Given the description of an element on the screen output the (x, y) to click on. 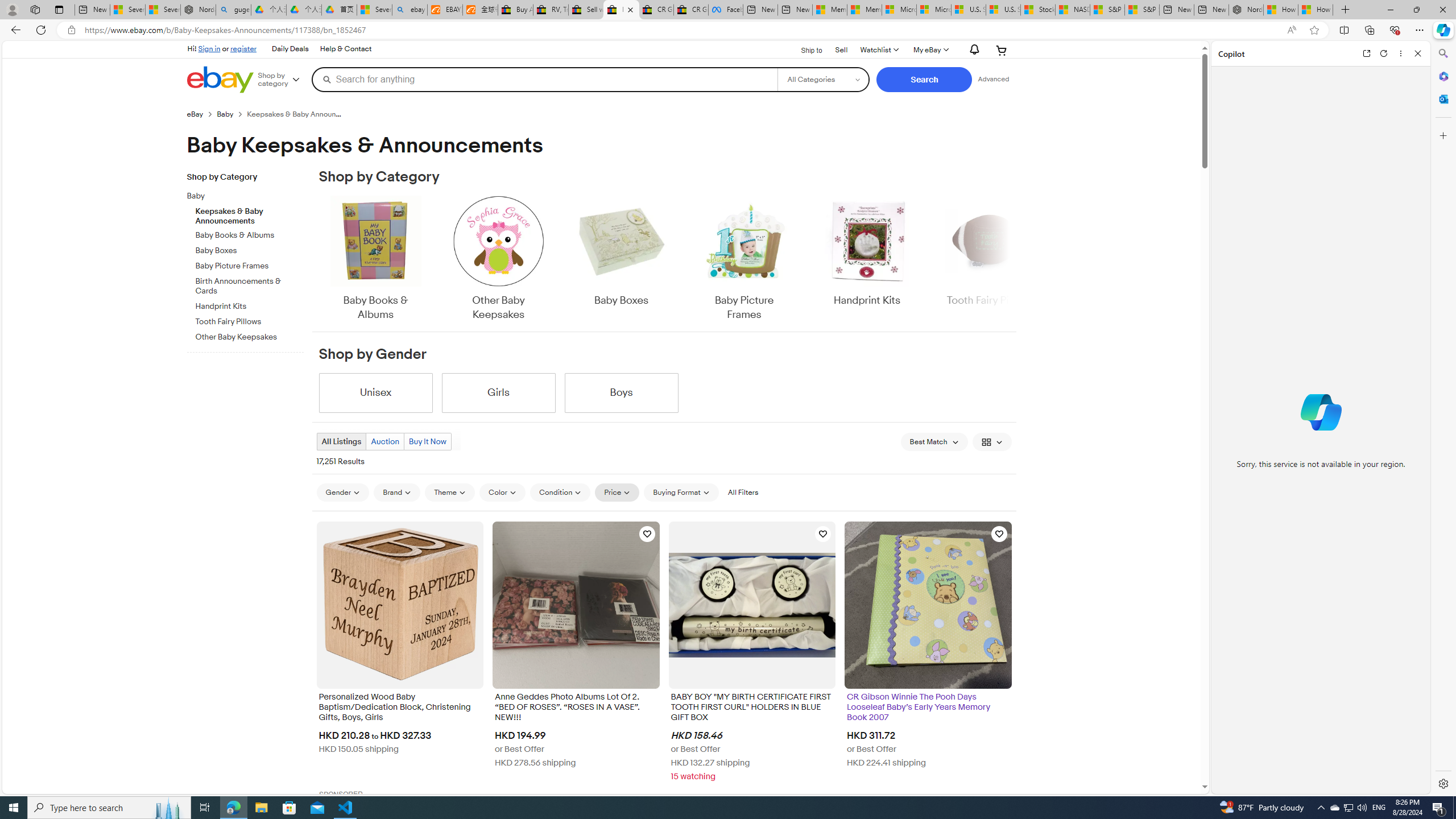
View: Gallery View (991, 441)
Sign in (209, 48)
Baby (240, 196)
Expand Cart (1001, 49)
Color (502, 492)
Condition (560, 492)
My eBayExpand My eBay (930, 49)
